Given the description of an element on the screen output the (x, y) to click on. 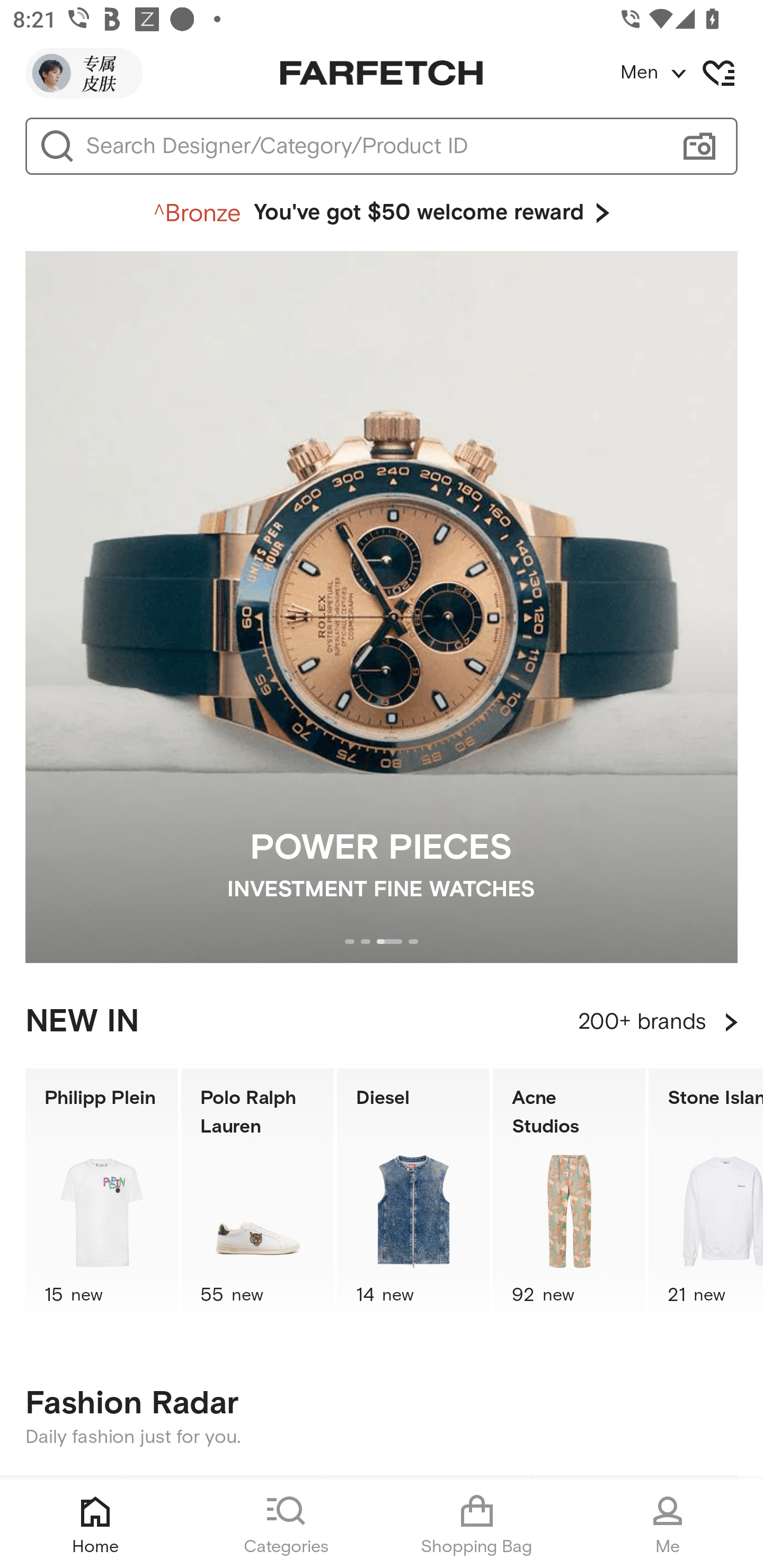
Men (691, 72)
Search Designer/Category/Product ID (373, 146)
You've got $50 welcome reward (381, 213)
NEW IN 200+ brands (381, 1021)
Philipp Plein 15  new (101, 1196)
Polo Ralph Lauren 55  new (257, 1196)
Diesel 14  new (413, 1196)
Acne Studios 92  new (568, 1196)
Stone Island 21  new (705, 1196)
Categories (285, 1523)
Shopping Bag (476, 1523)
Me (667, 1523)
